Given the description of an element on the screen output the (x, y) to click on. 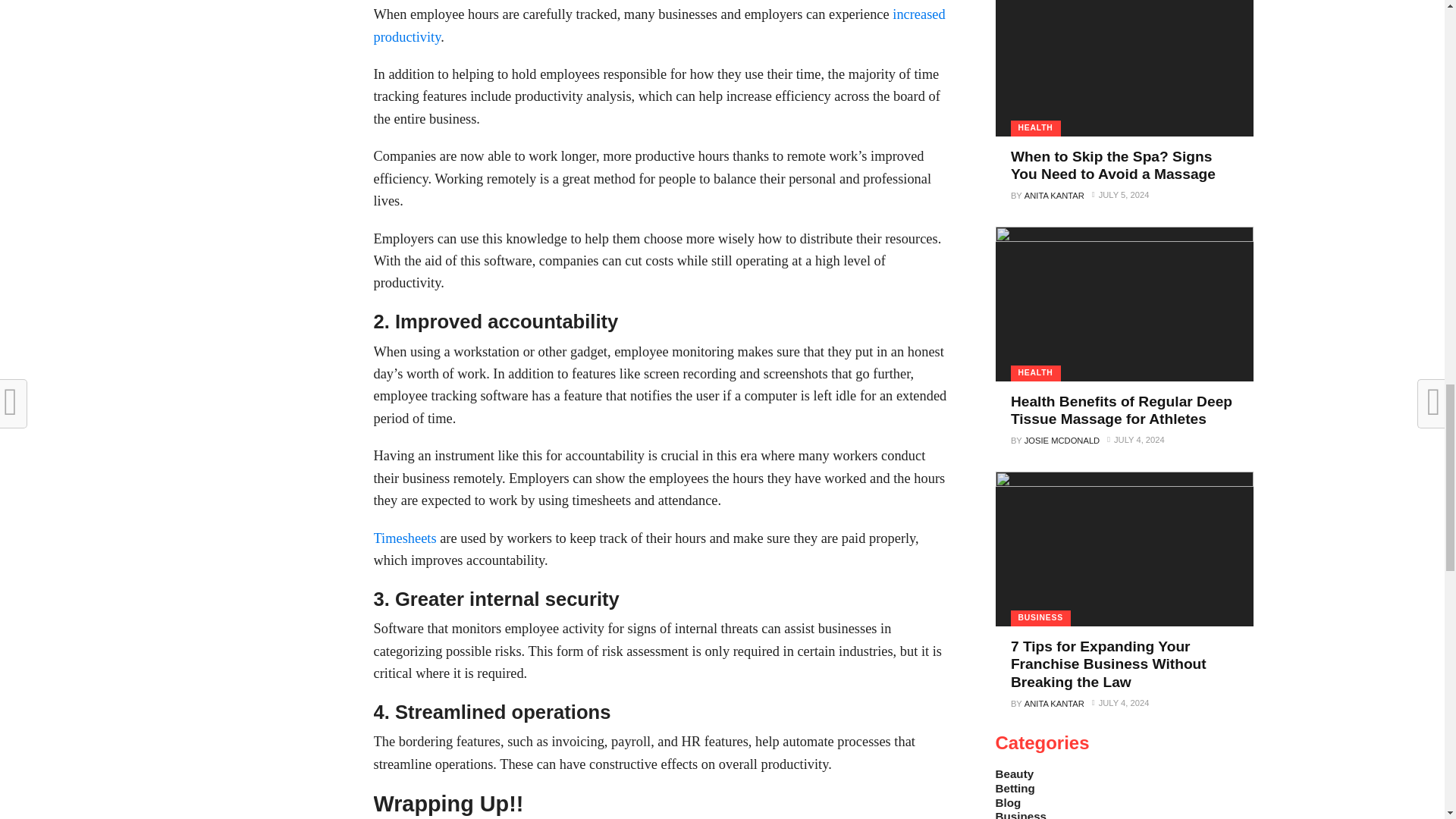
increased productivity (658, 25)
Timesheets (403, 538)
